Given the description of an element on the screen output the (x, y) to click on. 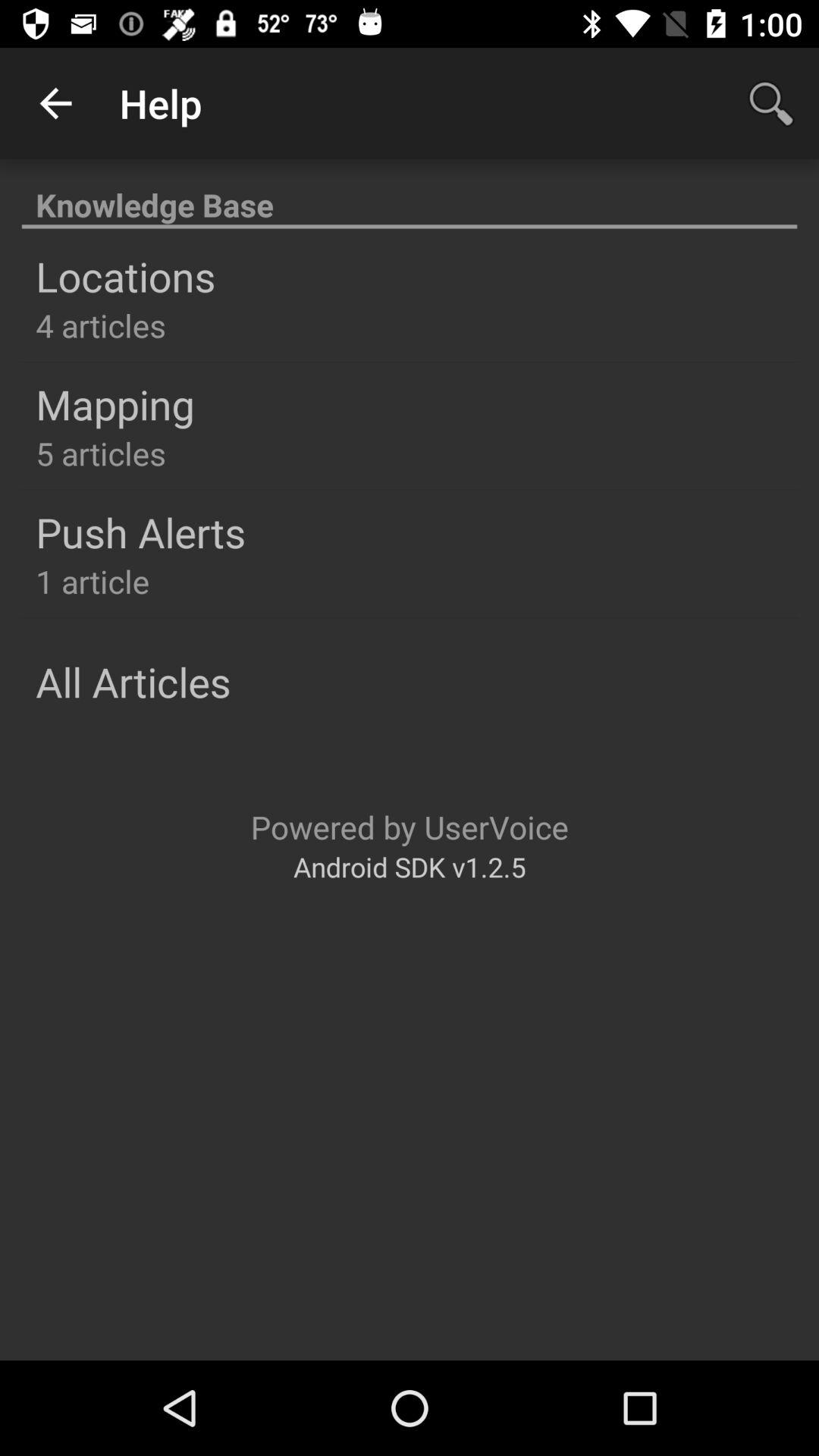
tap the all articles icon (132, 681)
